Given the description of an element on the screen output the (x, y) to click on. 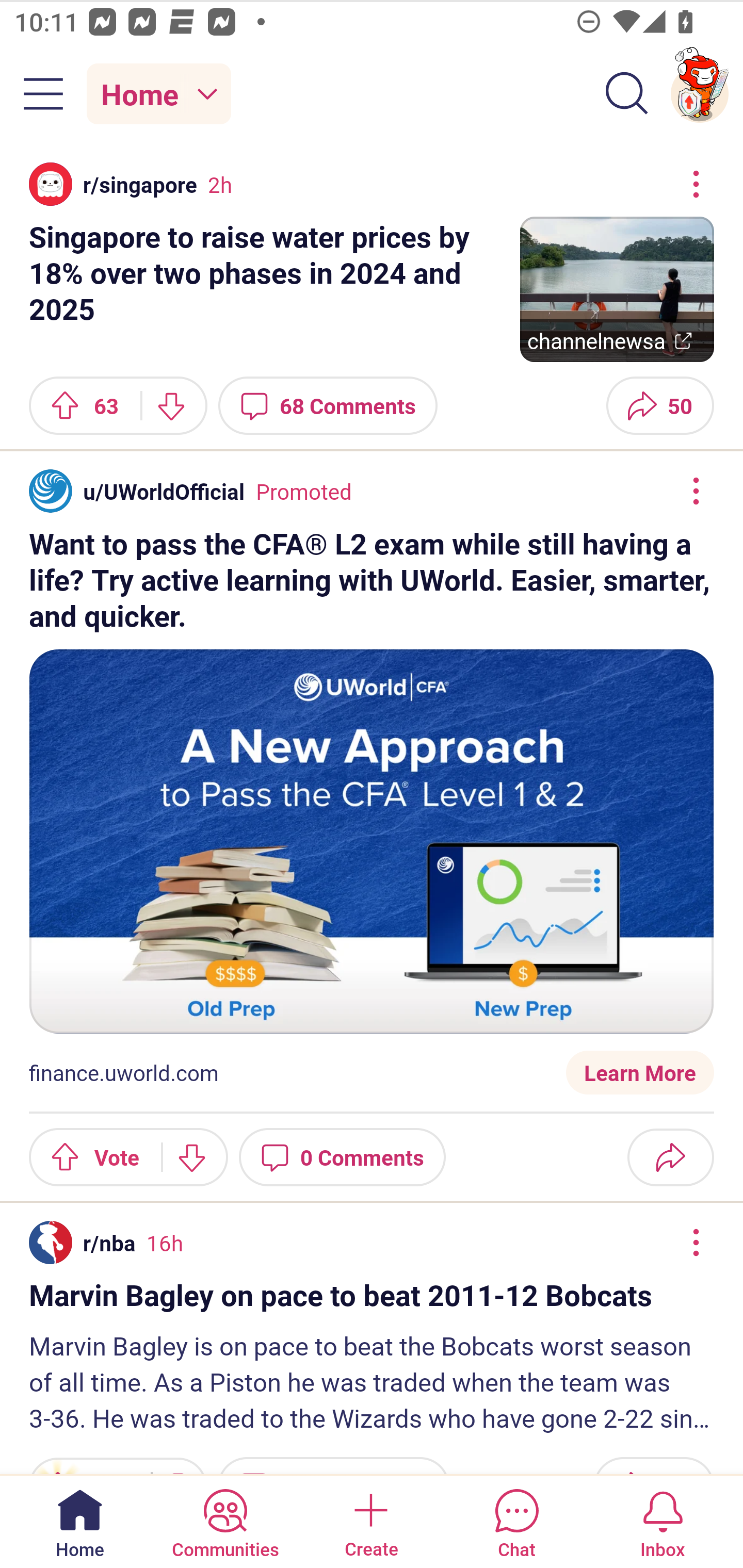
Community menu (43, 93)
Home Home feed (158, 93)
Search (626, 93)
TestAppium002 account (699, 93)
Home (80, 1520)
Communities (225, 1520)
Create a post Create (370, 1520)
Chat (516, 1520)
Inbox (662, 1520)
